Given the description of an element on the screen output the (x, y) to click on. 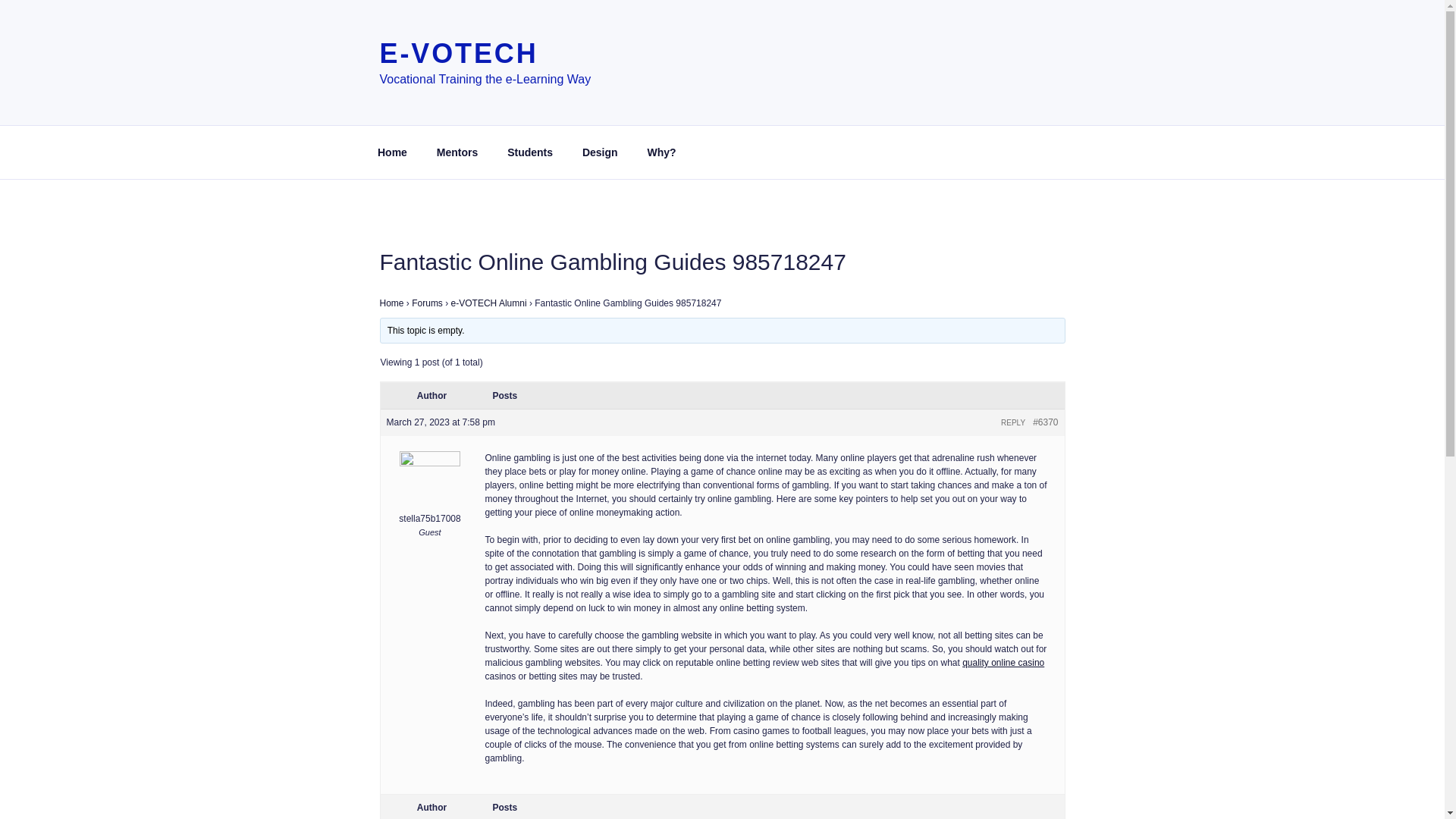
REPLY (1013, 367)
Design (599, 97)
Students (530, 97)
Forums (427, 247)
Why? (660, 97)
quality online casino (1002, 607)
e-VOTECH Alumni (489, 247)
Mentors (456, 97)
Home (392, 97)
E-VOTECH (457, 52)
